Given the description of an element on the screen output the (x, y) to click on. 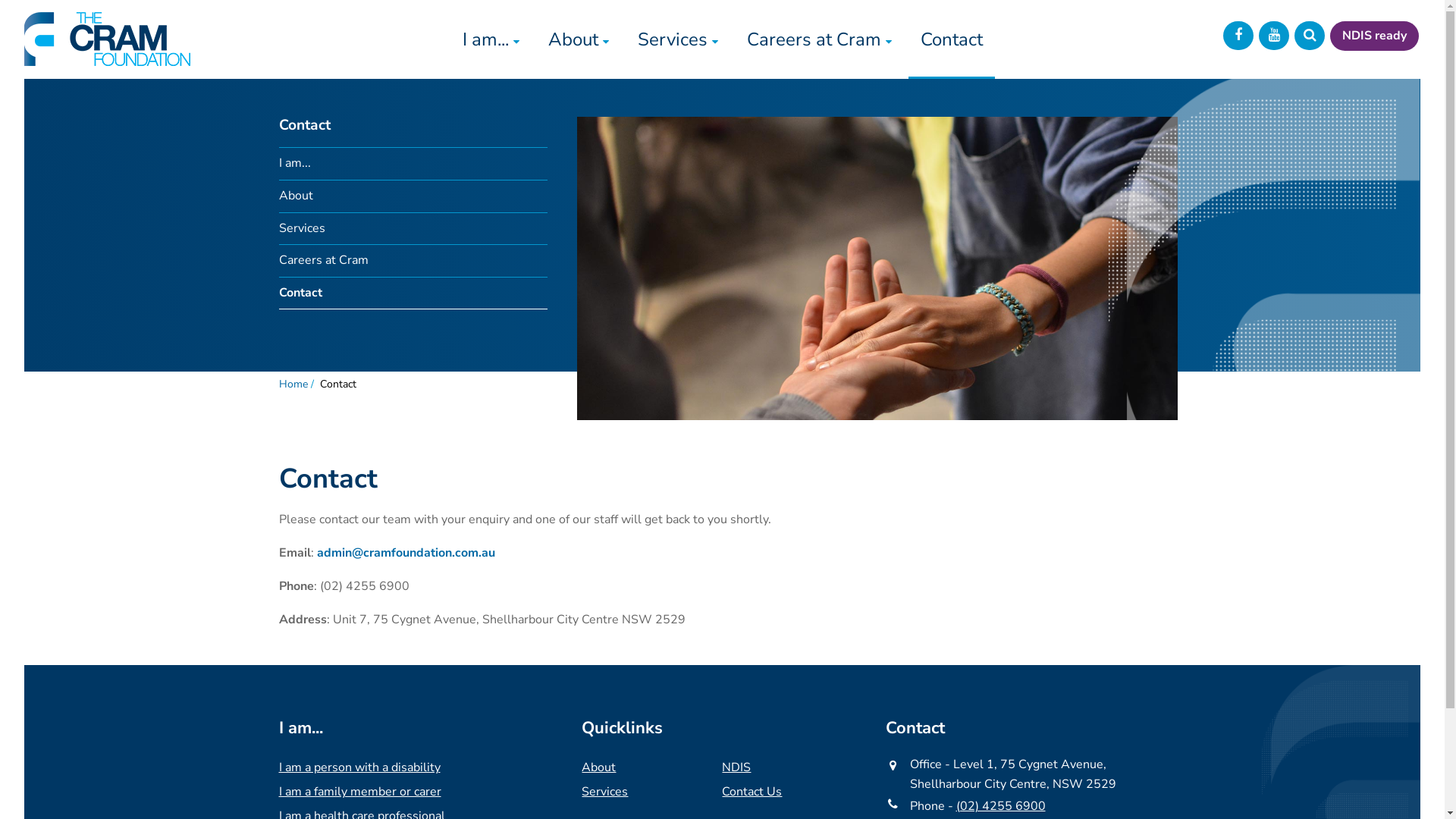
I am... Element type: text (413, 163)
I am... Element type: text (489, 39)
About Element type: text (413, 196)
NDIS ready Element type: text (1374, 35)
Home Element type: text (293, 383)
About Element type: text (598, 767)
Careers at Cram Element type: text (819, 39)
(02) 4255 6900 Element type: text (1000, 805)
Services Element type: text (413, 229)
admin@cramfoundation.com.au Element type: text (405, 552)
Services Element type: text (677, 39)
NDIS Element type: text (735, 767)
I am a family member or carer Element type: text (360, 791)
About Element type: text (578, 39)
Careers at Cram Element type: text (413, 260)
Contact Element type: text (950, 39)
I am a person with a disability Element type: text (359, 767)
Contact Us Element type: text (751, 791)
Services Element type: text (604, 791)
Contact Element type: text (413, 293)
